Given the description of an element on the screen output the (x, y) to click on. 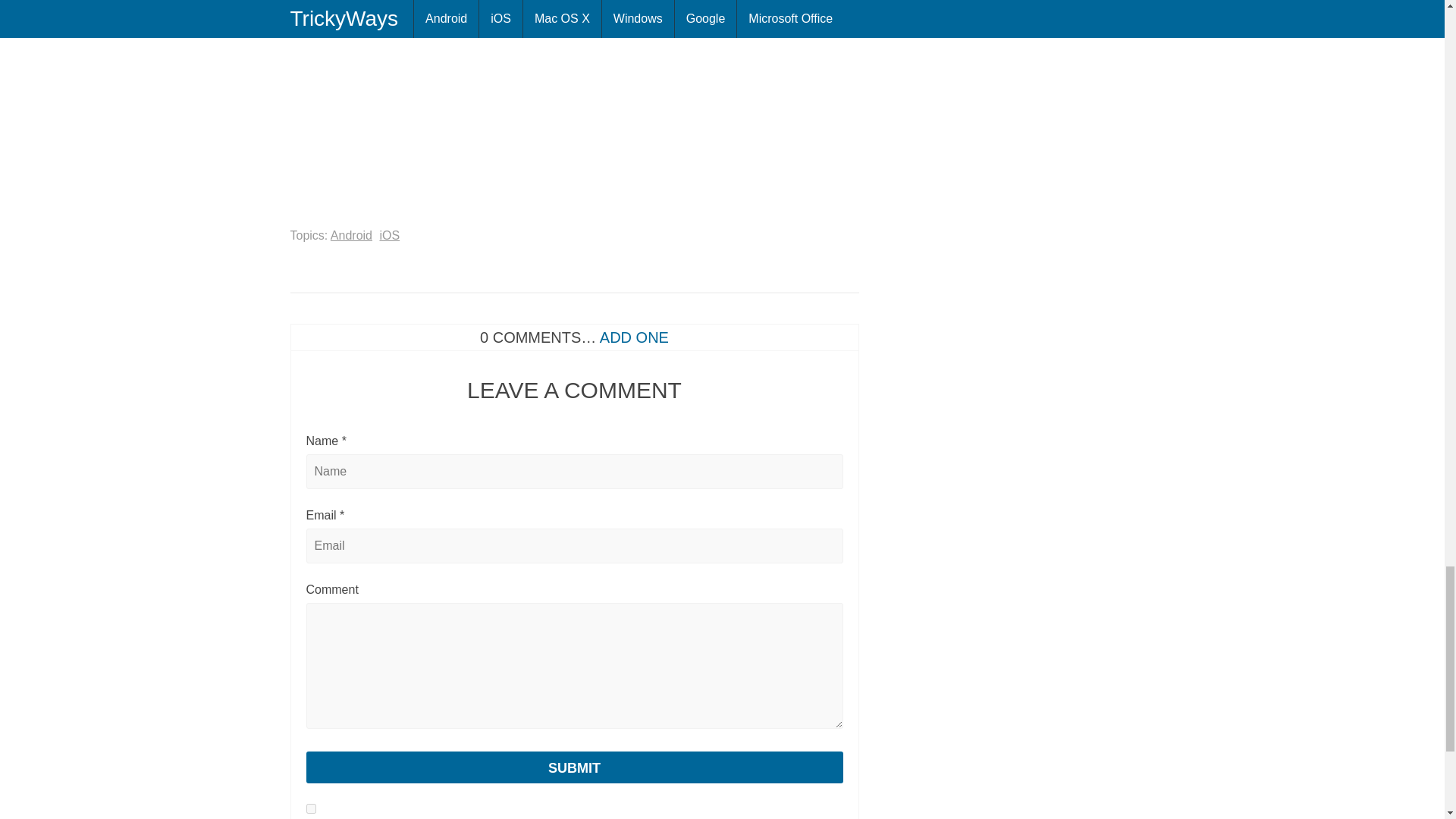
iOS (388, 235)
ADD ONE (633, 337)
Android (351, 235)
subscribe (310, 808)
Advertisement (416, 103)
Submit (574, 766)
Required (341, 514)
Submit (574, 766)
Required (344, 440)
